Given the description of an element on the screen output the (x, y) to click on. 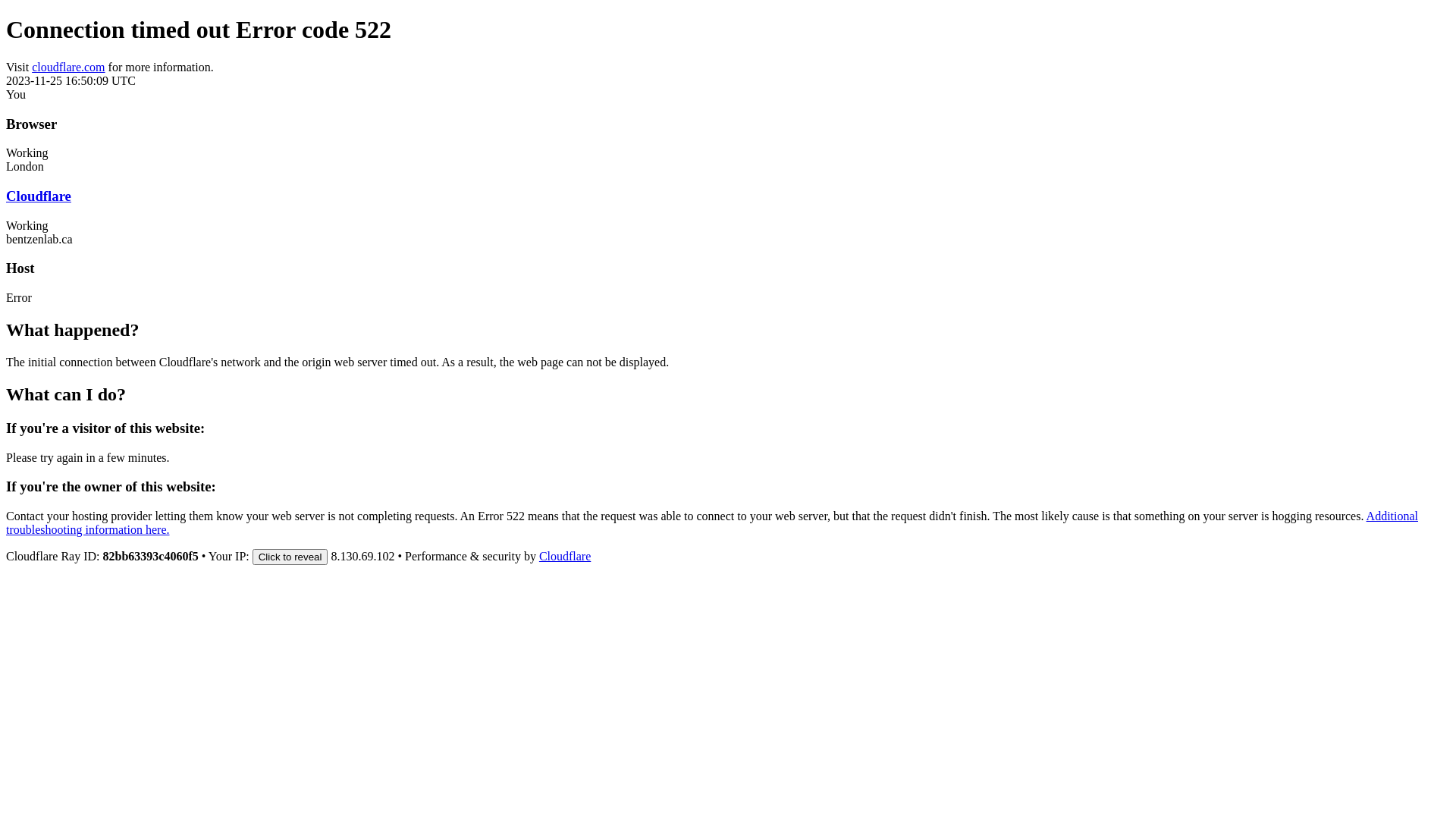
Click to reveal Element type: text (290, 556)
Additional troubleshooting information here. Element type: text (712, 522)
Cloudflare Element type: text (38, 195)
cloudflare.com Element type: text (67, 66)
Cloudflare Element type: text (564, 555)
